Given the description of an element on the screen output the (x, y) to click on. 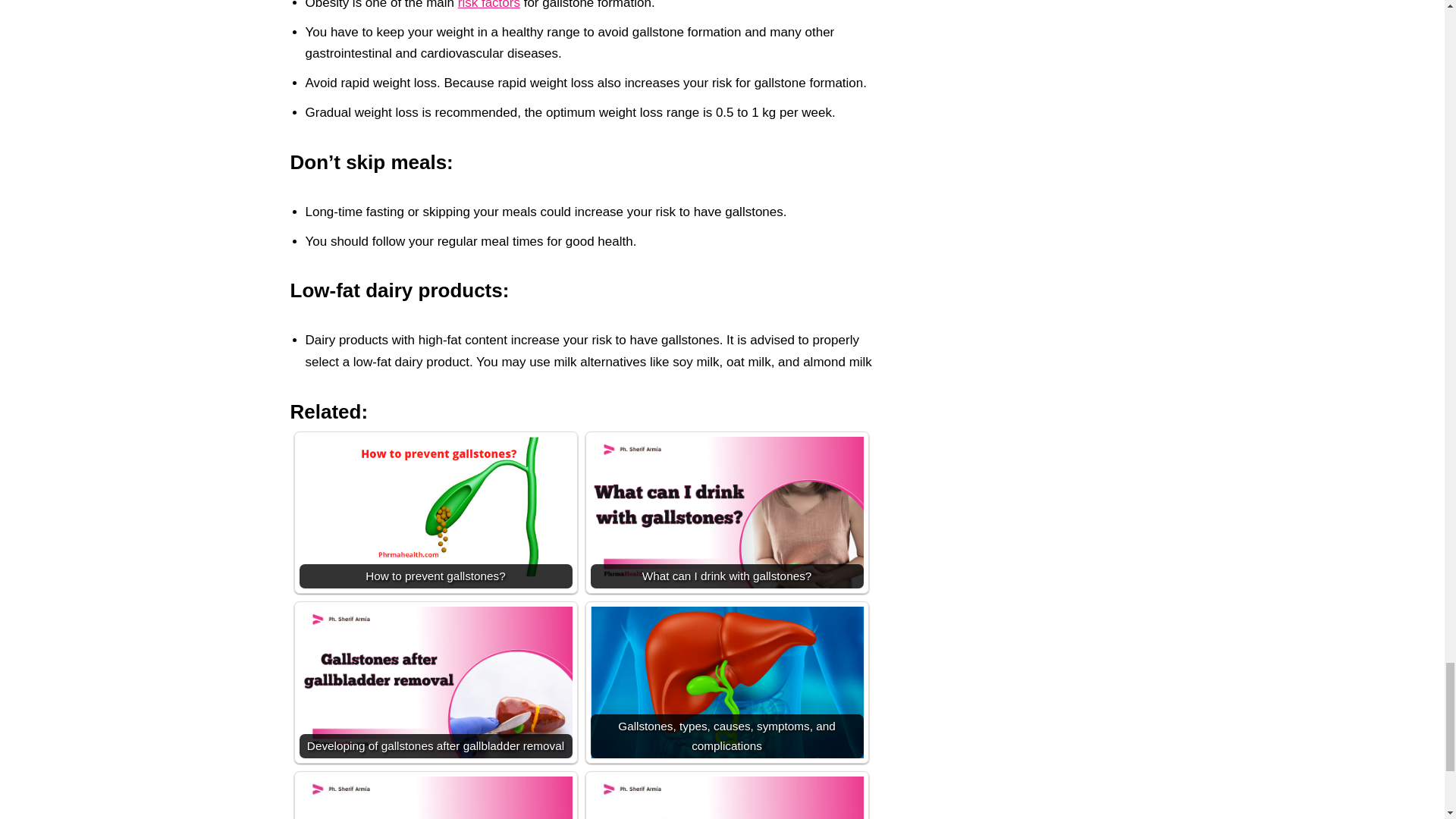
Do gallstones cause diarrhea? (726, 797)
How to prevent gallstones? (435, 507)
Gallstones, types, causes, symptoms, and complications (726, 689)
What can I drink with gallstones? (726, 513)
Developing of gallstones after gallbladder removal (435, 683)
Do gallstones cause urinary problems? (435, 797)
